Given the description of an element on the screen output the (x, y) to click on. 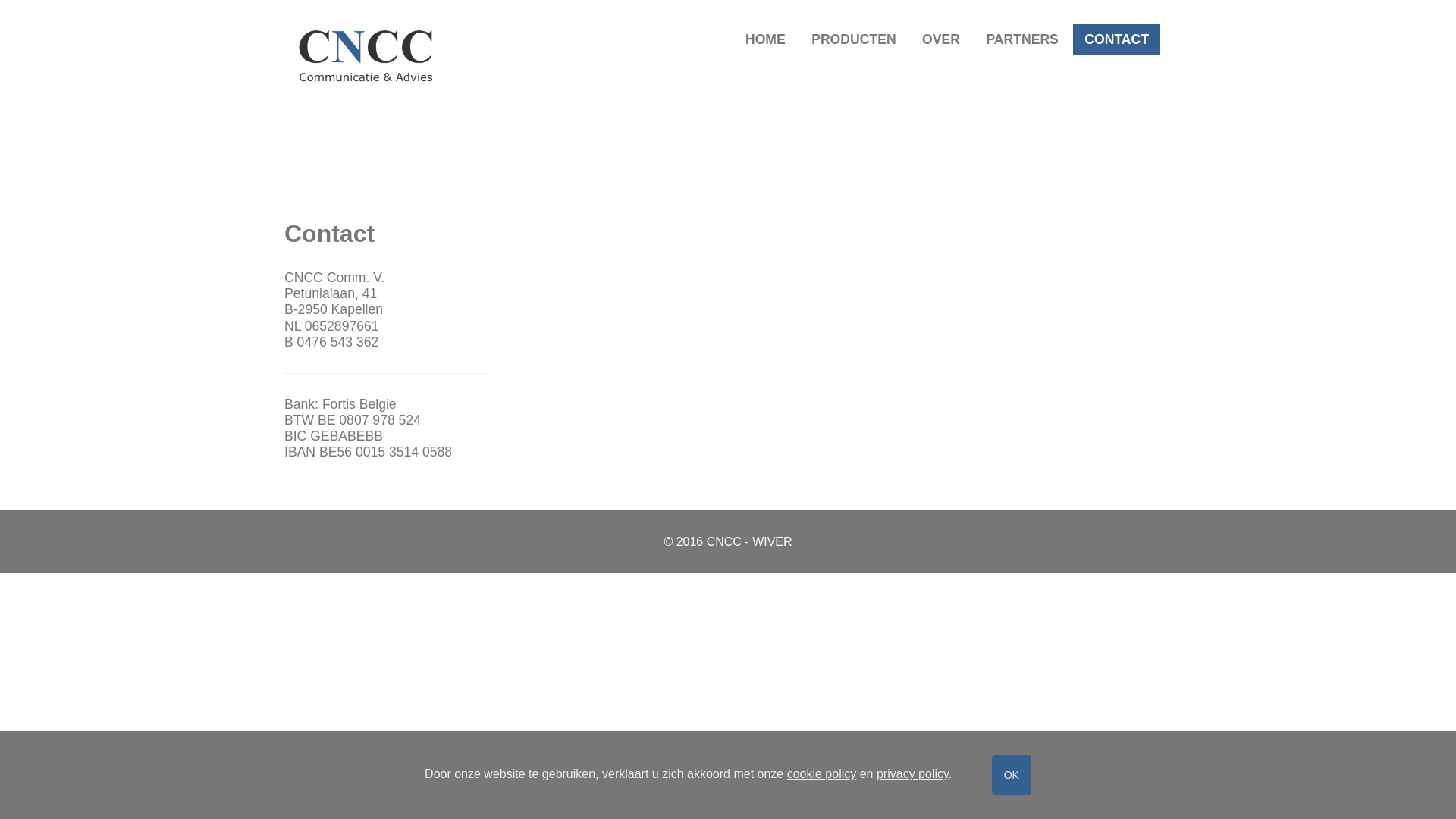
CONTACT Element type: text (1116, 39)
WIVER Element type: text (771, 541)
OVER Element type: text (940, 39)
HOME Element type: text (765, 39)
PRODUCTEN Element type: text (853, 39)
PARTNERS Element type: text (1021, 39)
CNCC Element type: hover (365, 56)
privacy policy Element type: text (912, 773)
cookie policy Element type: text (821, 773)
